Given the description of an element on the screen output the (x, y) to click on. 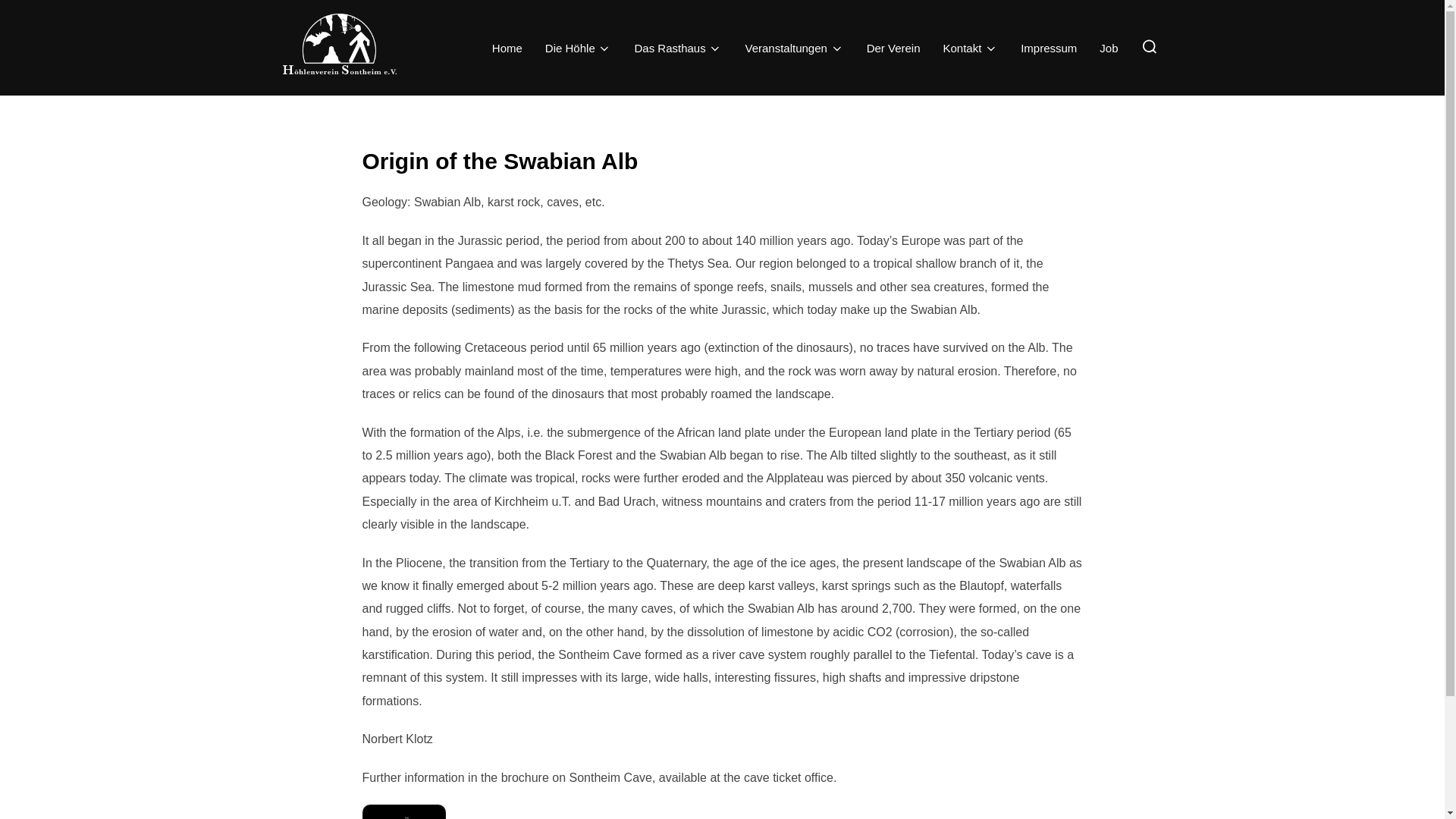
Home (507, 47)
Das Rasthaus (677, 47)
Veranstaltungen (793, 47)
